Given the description of an element on the screen output the (x, y) to click on. 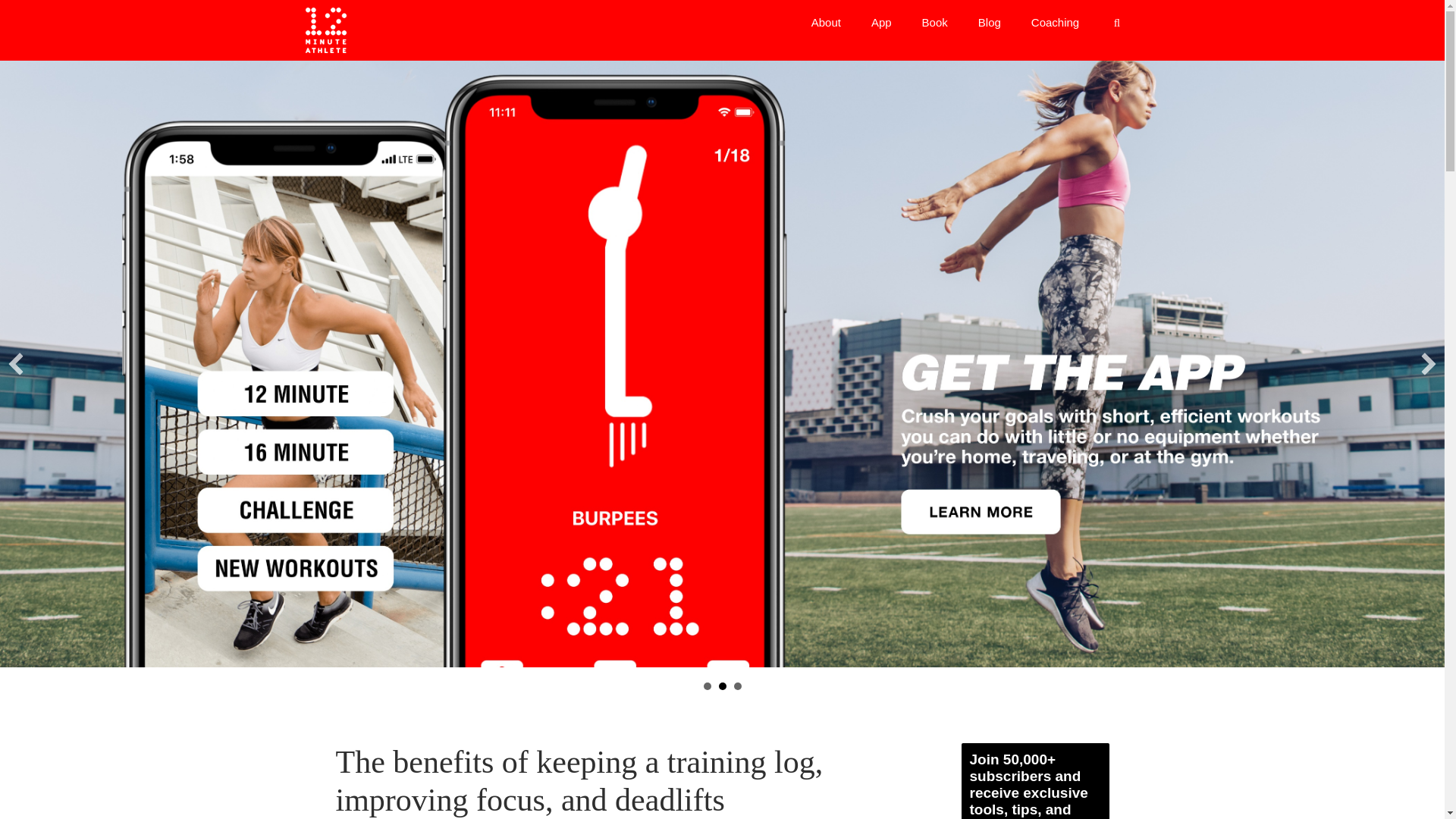
3 (737, 686)
1 (707, 686)
App (881, 22)
12 Minute Athlete (325, 30)
2 (722, 686)
Blog (989, 22)
Book (934, 22)
About (826, 22)
Coaching (1055, 22)
